Given the description of an element on the screen output the (x, y) to click on. 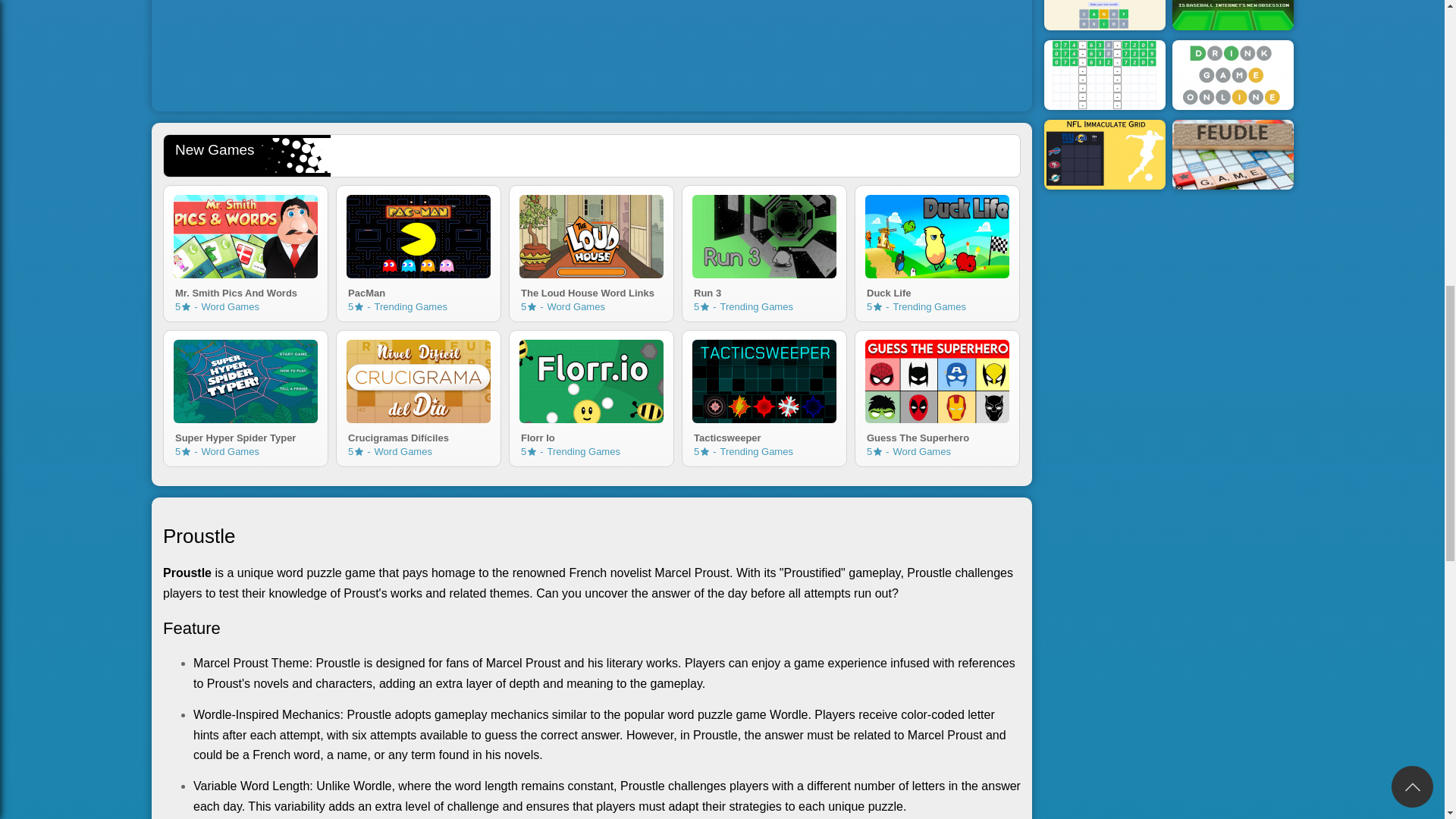
Duck Life (936, 291)
Advertisement (764, 436)
PacMan (418, 291)
numrate (936, 236)
numrate (591, 52)
numrate (245, 291)
numrate (418, 236)
Run 3 (877, 306)
